Given the description of an element on the screen output the (x, y) to click on. 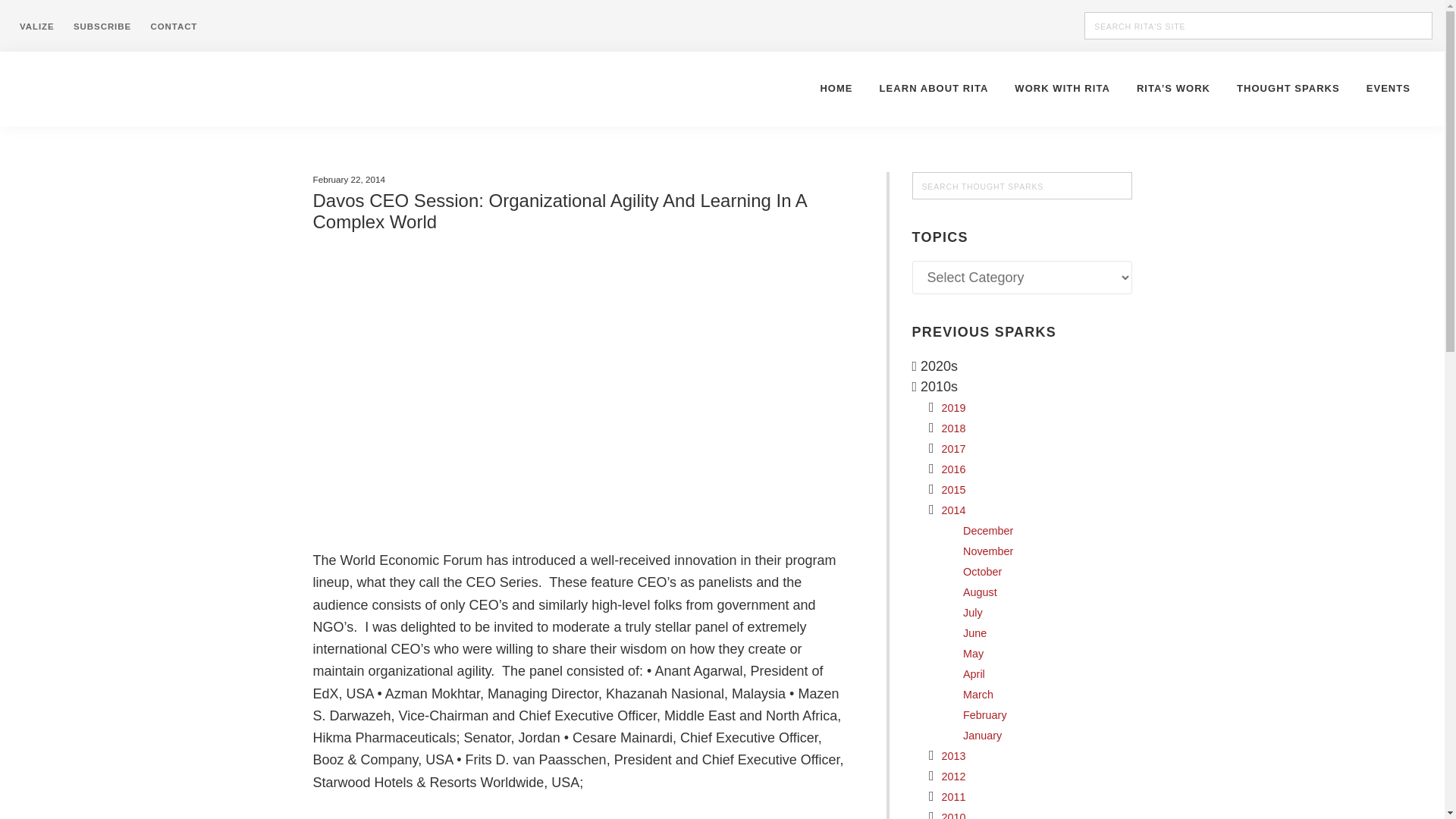
WORK WITH RITA (1062, 88)
HOME (835, 88)
VALIZE (36, 26)
EVENTS (1388, 88)
THOUGHT SPARKS (1288, 88)
LEARN ABOUT RITA (933, 88)
CONTACT (173, 26)
SUBSCRIBE (101, 26)
